Given the description of an element on the screen output the (x, y) to click on. 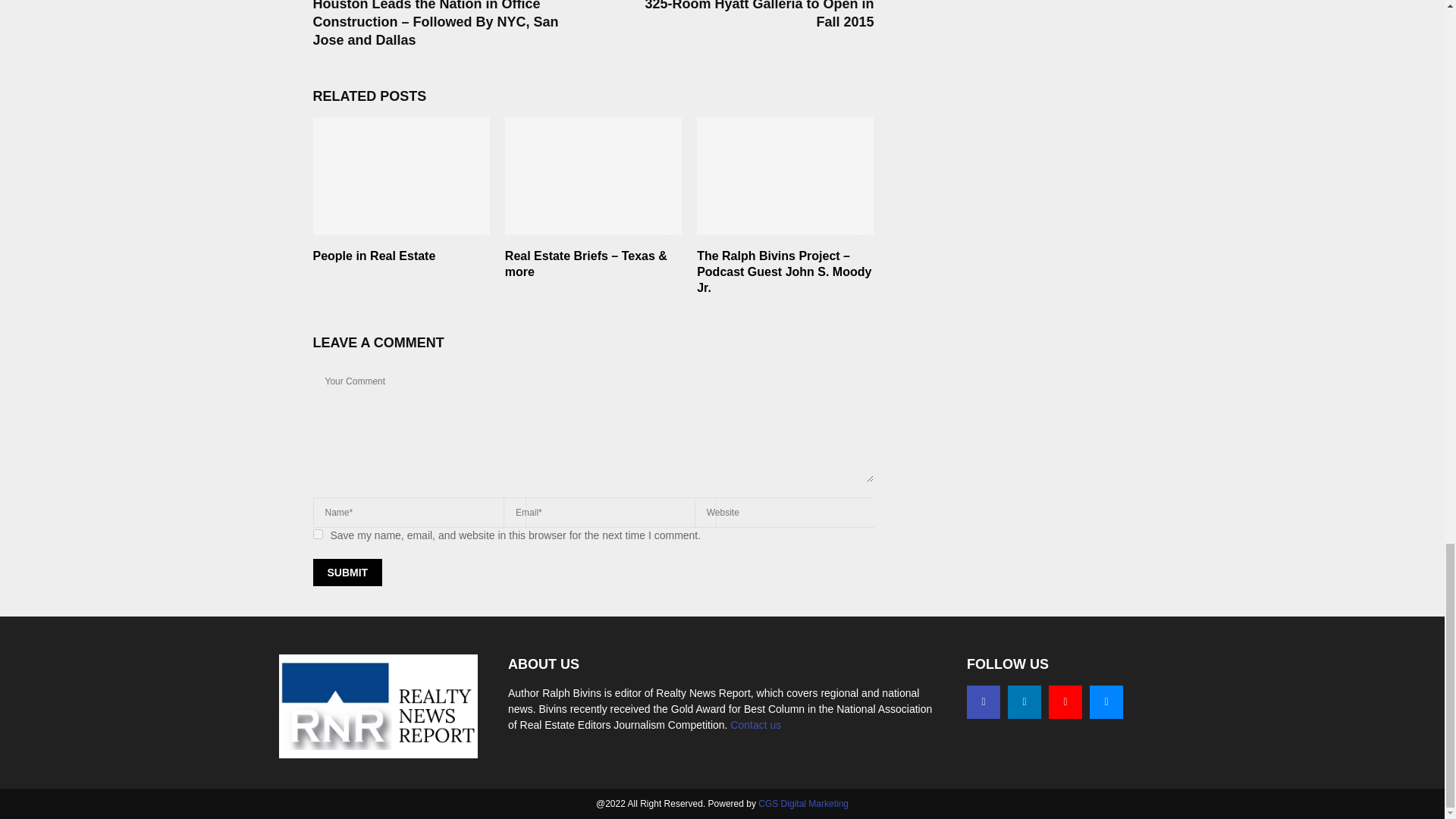
Submit (347, 572)
yes (317, 533)
